Given the description of an element on the screen output the (x, y) to click on. 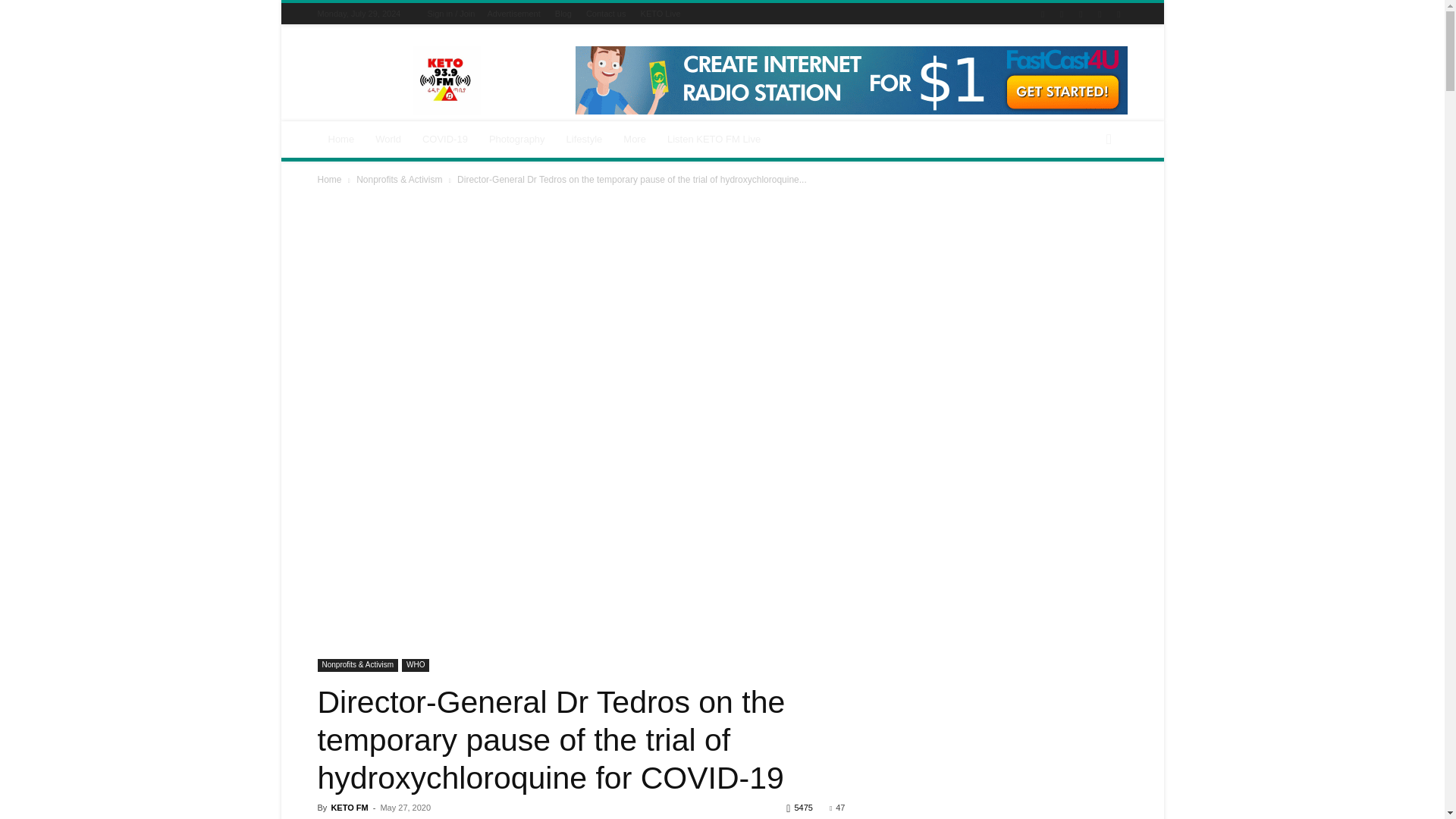
Contact us (606, 13)
Blog (563, 13)
KETO Live (660, 13)
KETO FM (446, 79)
Advertisement (513, 13)
